Given the description of an element on the screen output the (x, y) to click on. 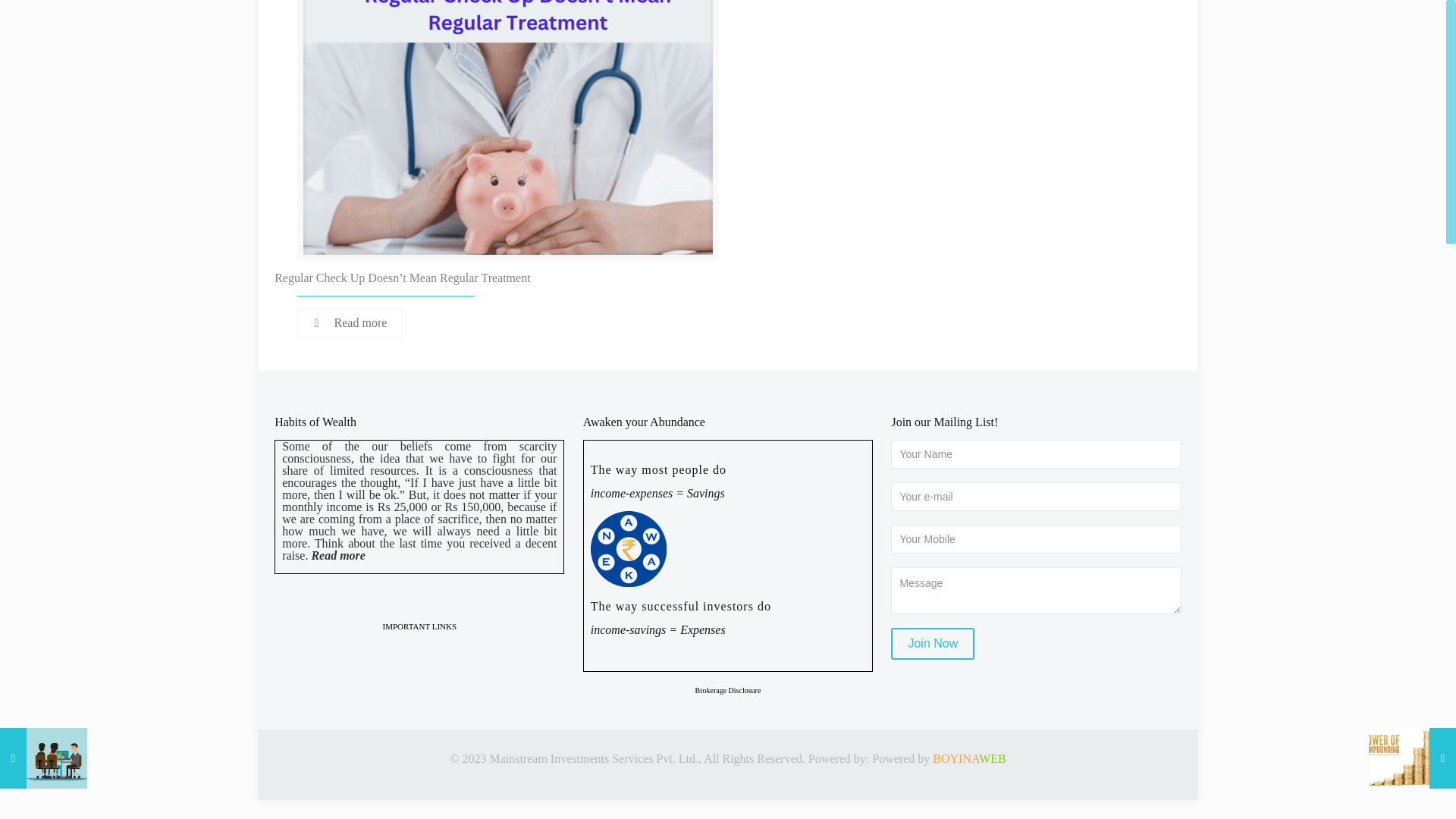
Join Now (932, 644)
